Given the description of an element on the screen output the (x, y) to click on. 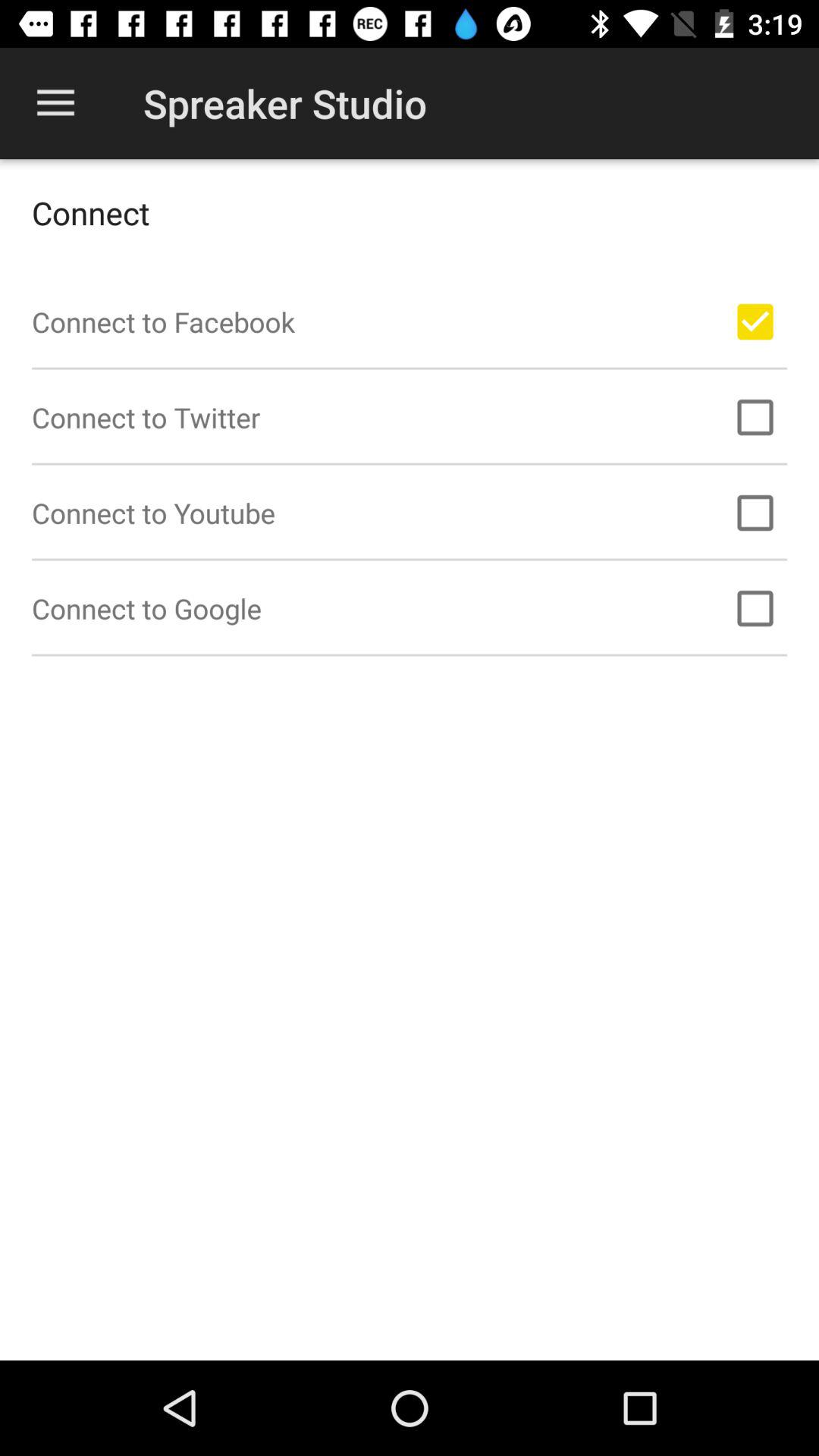
connect to twitter (755, 417)
